Given the description of an element on the screen output the (x, y) to click on. 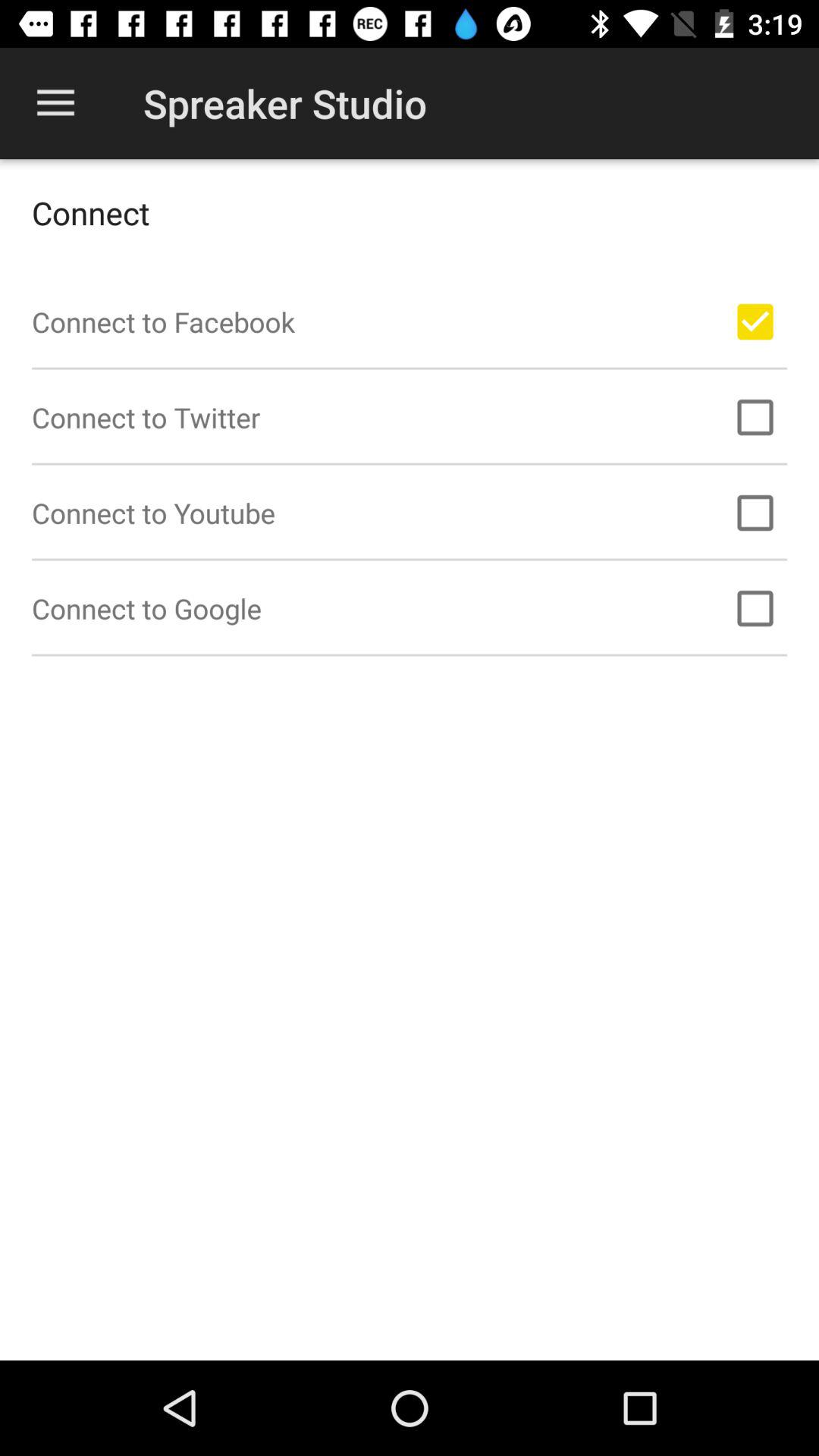
connect to twitter (755, 417)
